Given the description of an element on the screen output the (x, y) to click on. 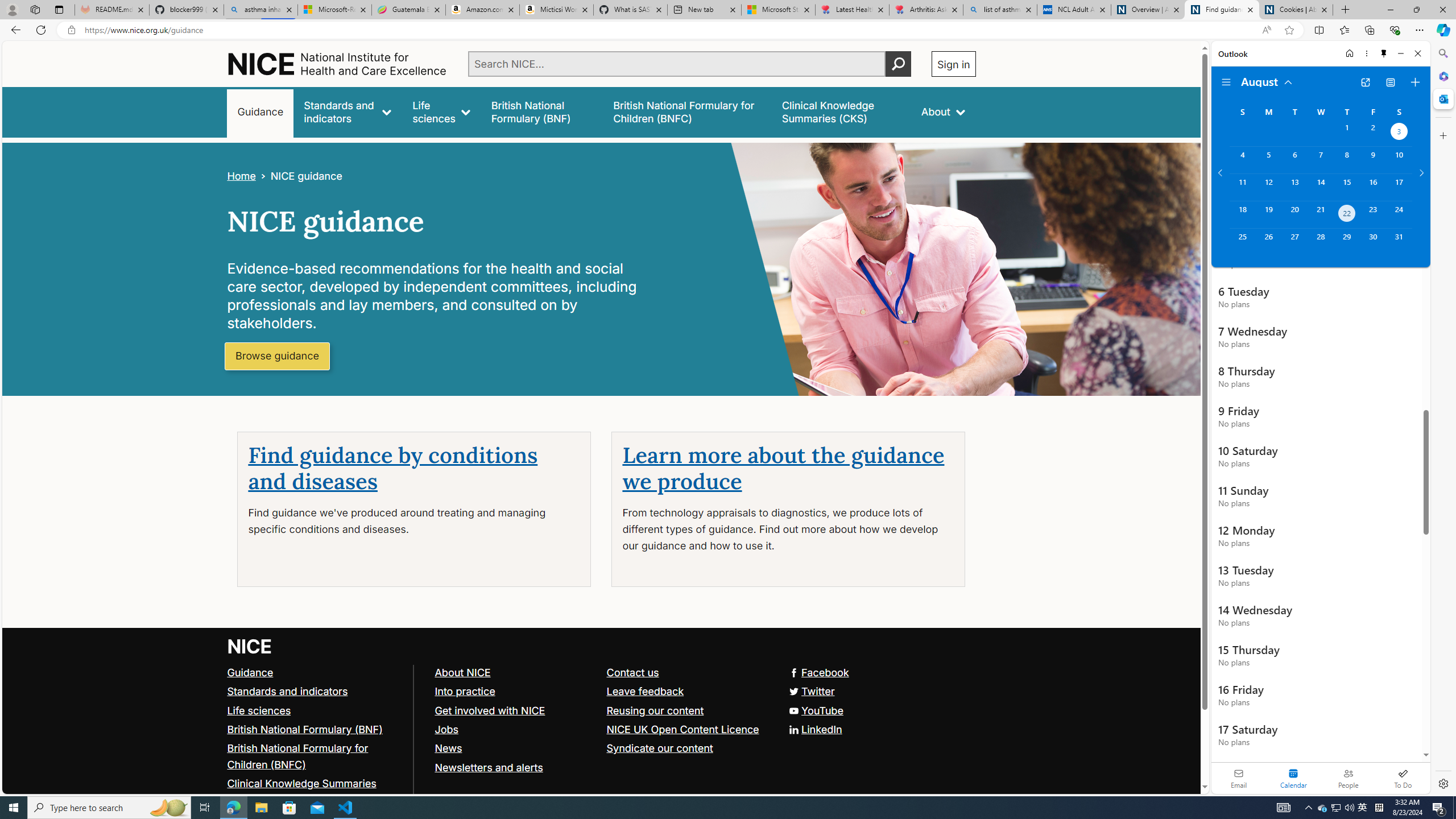
Syndicate our content (686, 747)
Monday, August 19, 2024.  (1268, 214)
Open in new tab (1365, 82)
false (841, 111)
Cookies | About | NICE (1295, 9)
Thursday, August 15, 2024.  (1346, 186)
British National Formulary for Children (BNFC) (315, 756)
British National Formulary for Children (BNFC) (297, 756)
Into practice (514, 691)
